Given the description of an element on the screen output the (x, y) to click on. 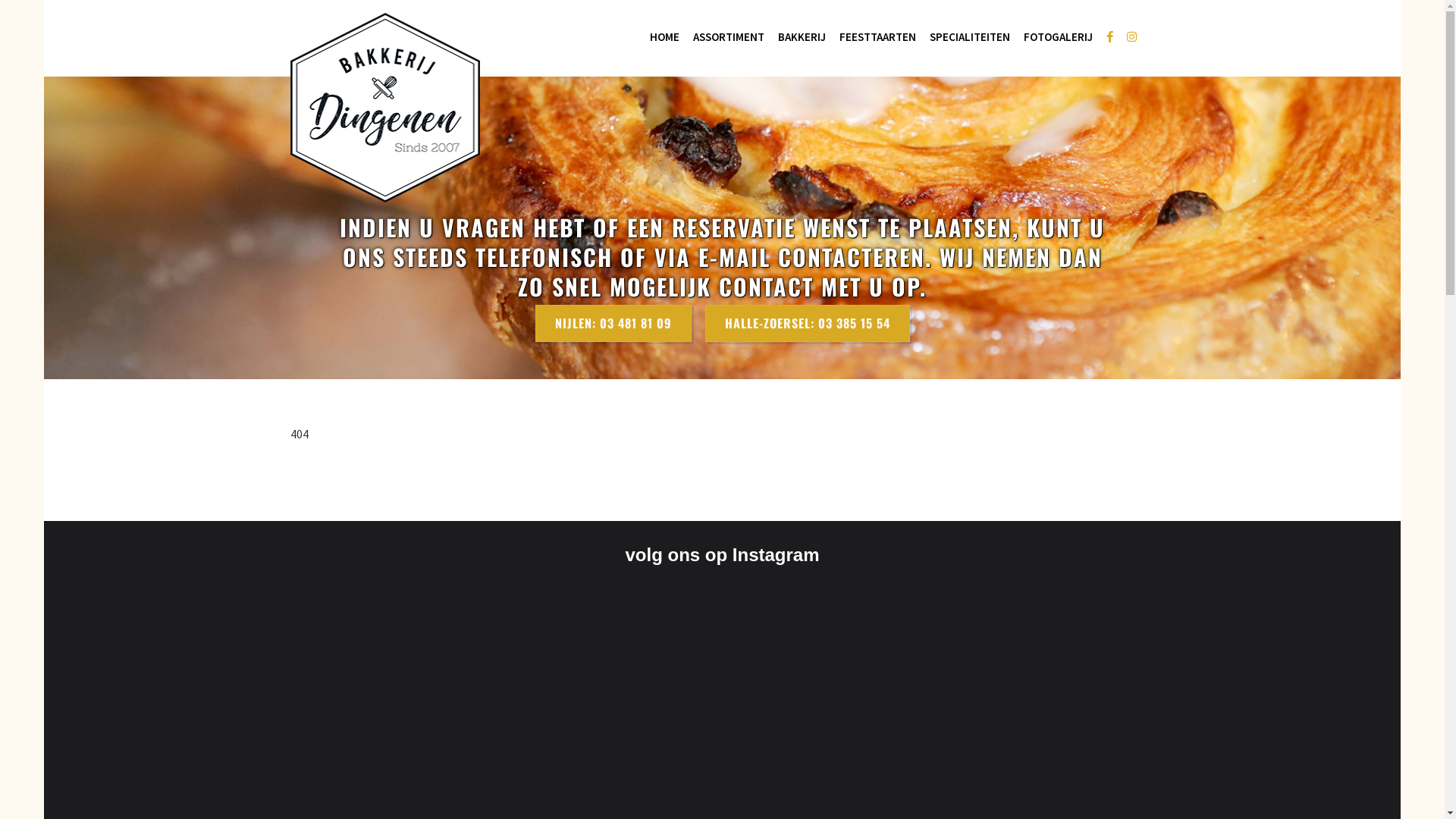
FOTOGALERIJ Element type: text (1057, 36)
SPECIALITEITEN Element type: text (968, 36)
FEESTTAARTEN Element type: text (877, 36)
HOME Element type: text (664, 36)
HALLE-ZOERSEL: 03 385 15 54 Element type: text (807, 323)
ASSORTIMENT Element type: text (727, 36)
BAKKERIJ Element type: text (800, 36)
NIJLEN: 03 481 81 09 Element type: text (613, 323)
